Given the description of an element on the screen output the (x, y) to click on. 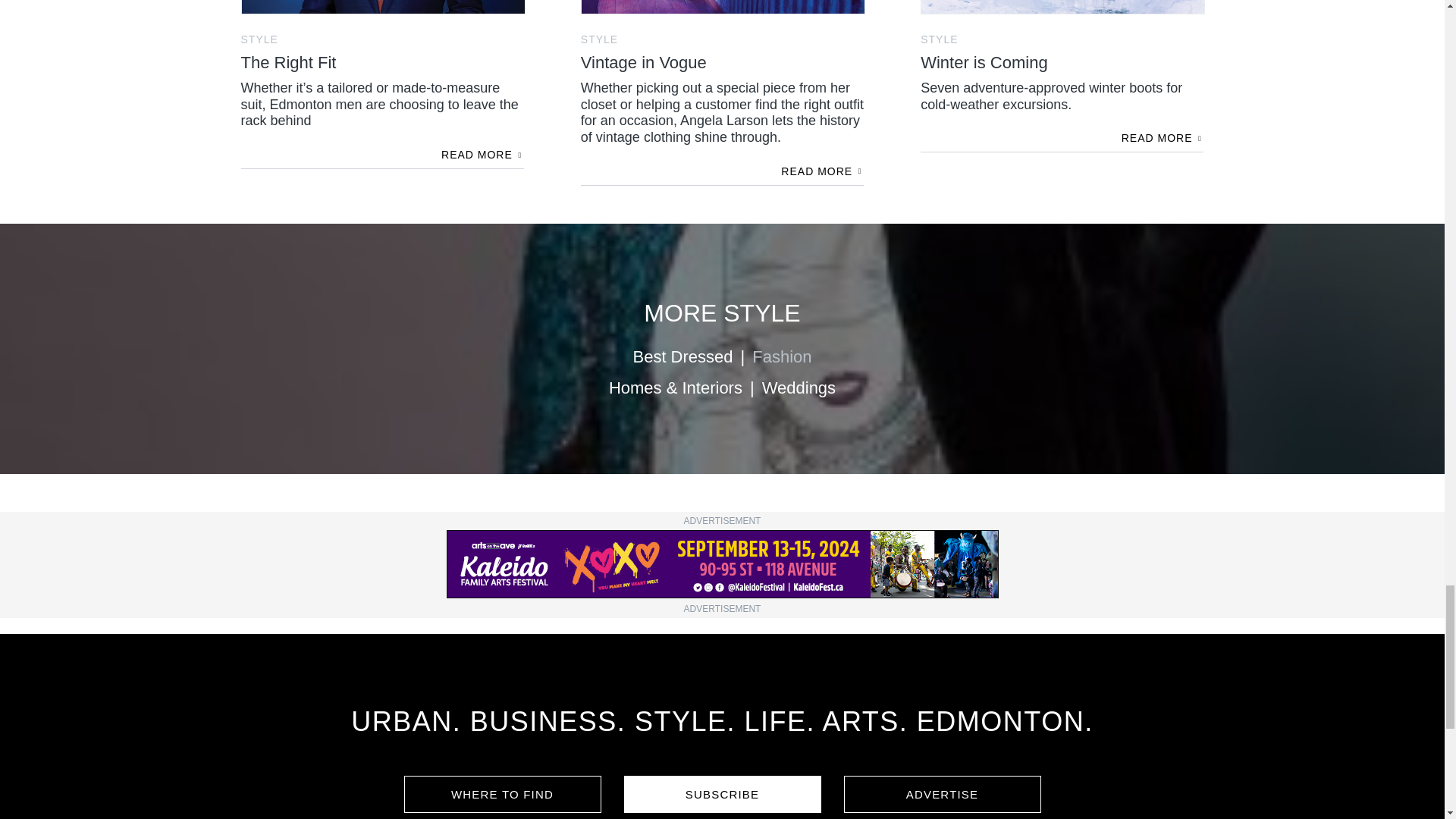
Vintage in Vogue (721, 88)
The Right Fit (382, 80)
Winter is Coming (1062, 72)
Vintage in Vogue (722, 7)
The Right Fit (383, 7)
